Given the description of an element on the screen output the (x, y) to click on. 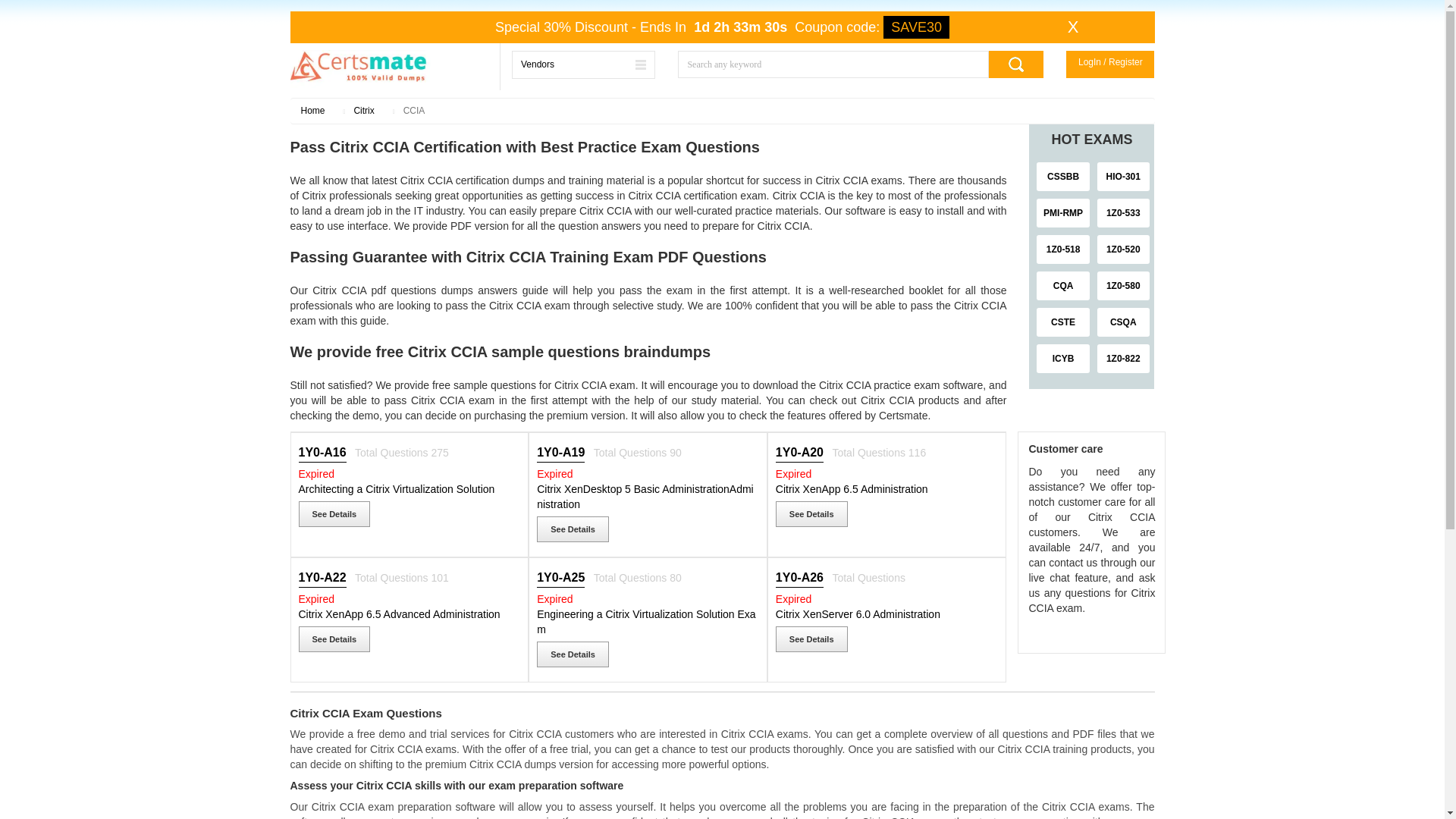
1Z0-518 (1062, 249)
See Details (334, 638)
CSQA (1123, 321)
ICYB (1062, 358)
1Z0-822 (1123, 358)
1Y0-A25 (562, 577)
1Y0-A19 (562, 452)
1Z0-533 (1123, 213)
See Details (334, 514)
1Y0-A20 (801, 452)
